Given the description of an element on the screen output the (x, y) to click on. 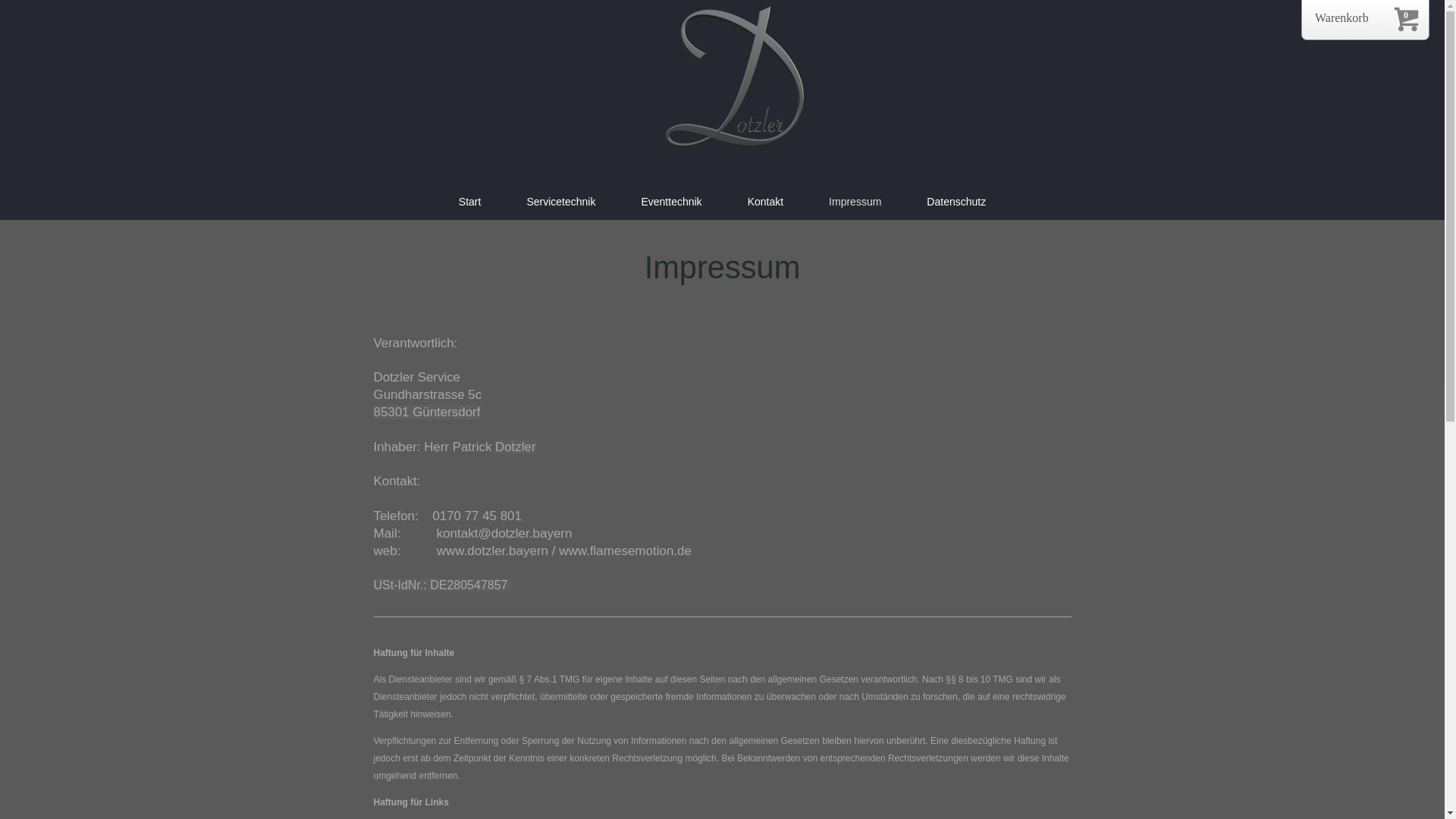
Servicetechnik Element type: text (560, 201)
Datenschutz Element type: text (956, 201)
Eventtechnik Element type: text (670, 201)
Impressum Element type: text (854, 201)
Start Element type: text (469, 201)
Kontakt Element type: text (765, 201)
